Given the description of an element on the screen output the (x, y) to click on. 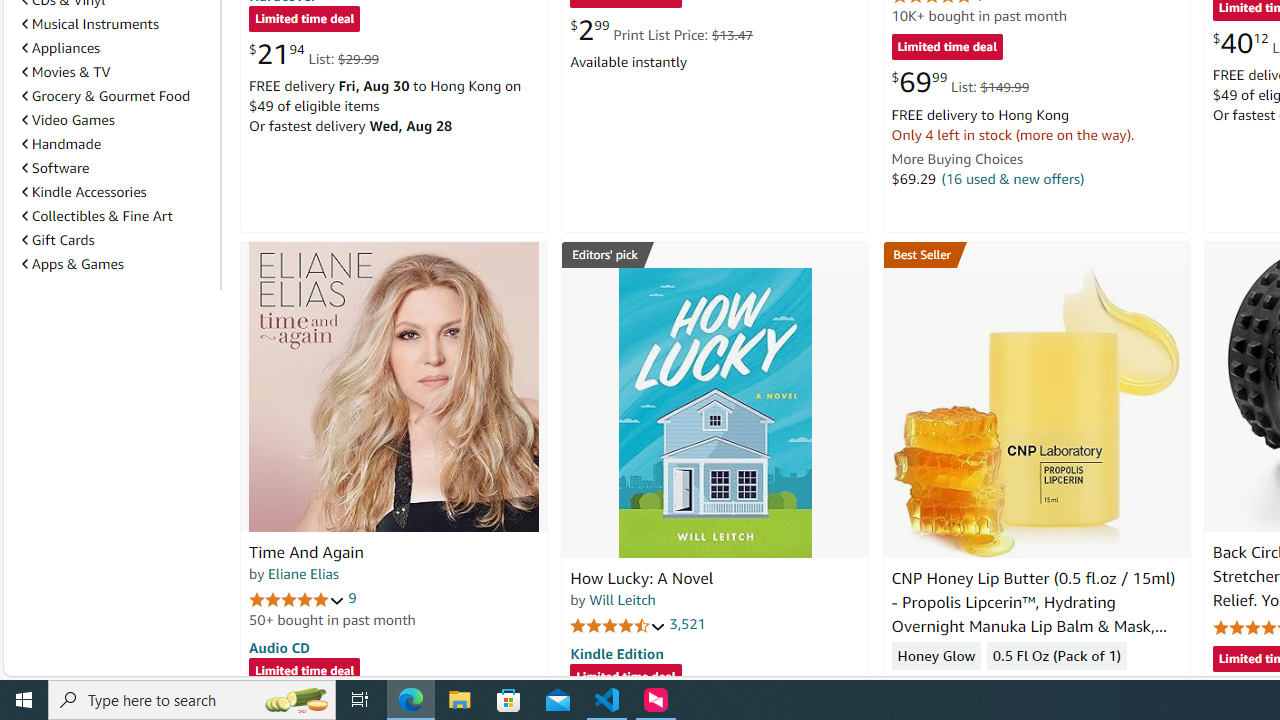
9 (352, 597)
Collectibles & Fine Art (96, 215)
Apps & Games (72, 263)
How Lucky: A Novel (641, 578)
3,521 (687, 624)
Gift Cards (57, 240)
Appliances (61, 47)
Time And Again (393, 386)
How Lucky: A Novel (714, 412)
Gift Cards (117, 239)
Appliances (117, 48)
Will Leitch (621, 599)
Video Games (117, 120)
Handmade (117, 143)
Musical Instruments (89, 24)
